Given the description of an element on the screen output the (x, y) to click on. 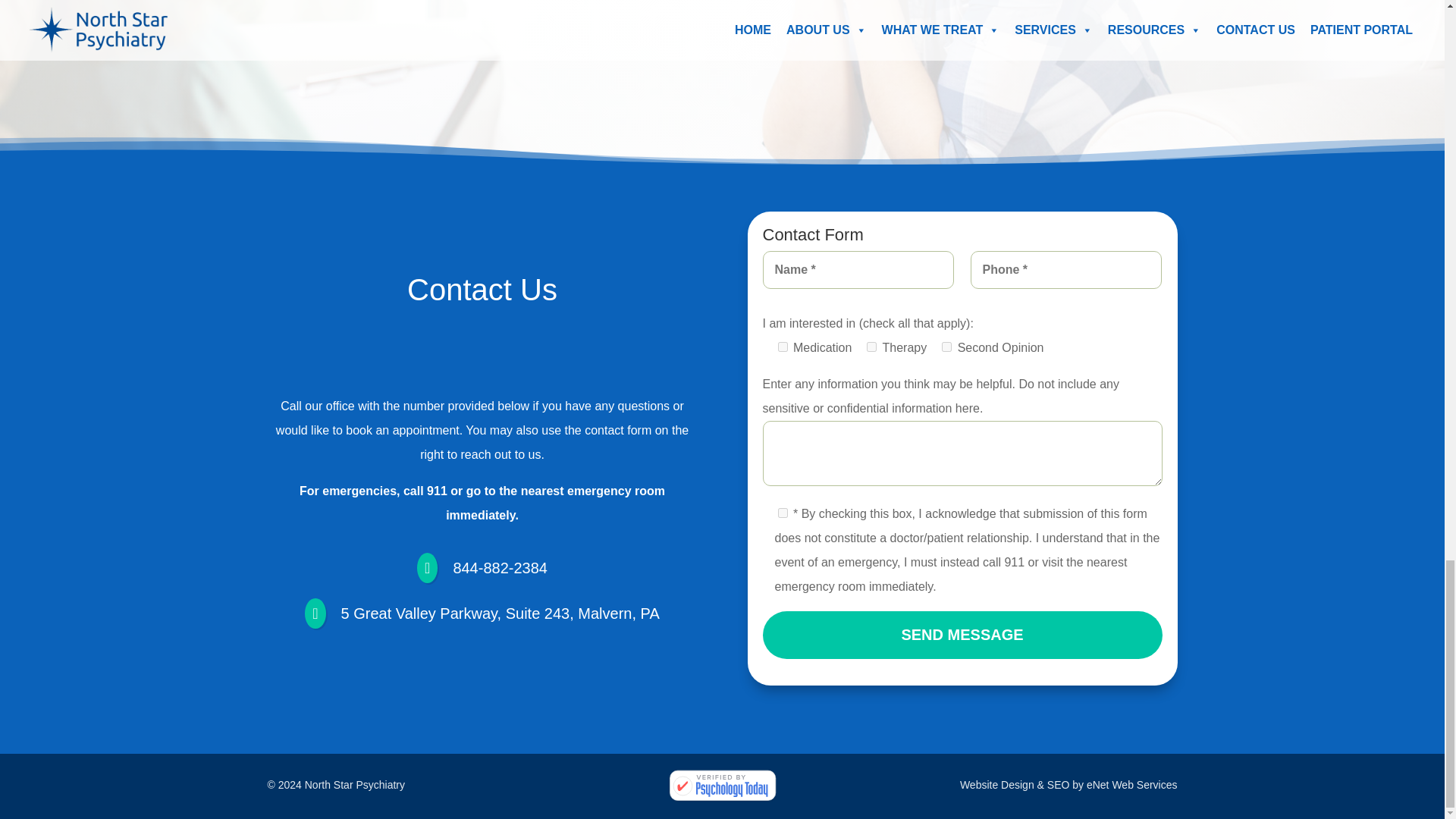
SEND MESSAGE (961, 634)
SEND MESSAGE (961, 634)
Therapy (871, 347)
Second Opinion (947, 347)
Medication (782, 347)
North Star Psychiatry (721, 786)
